Given the description of an element on the screen output the (x, y) to click on. 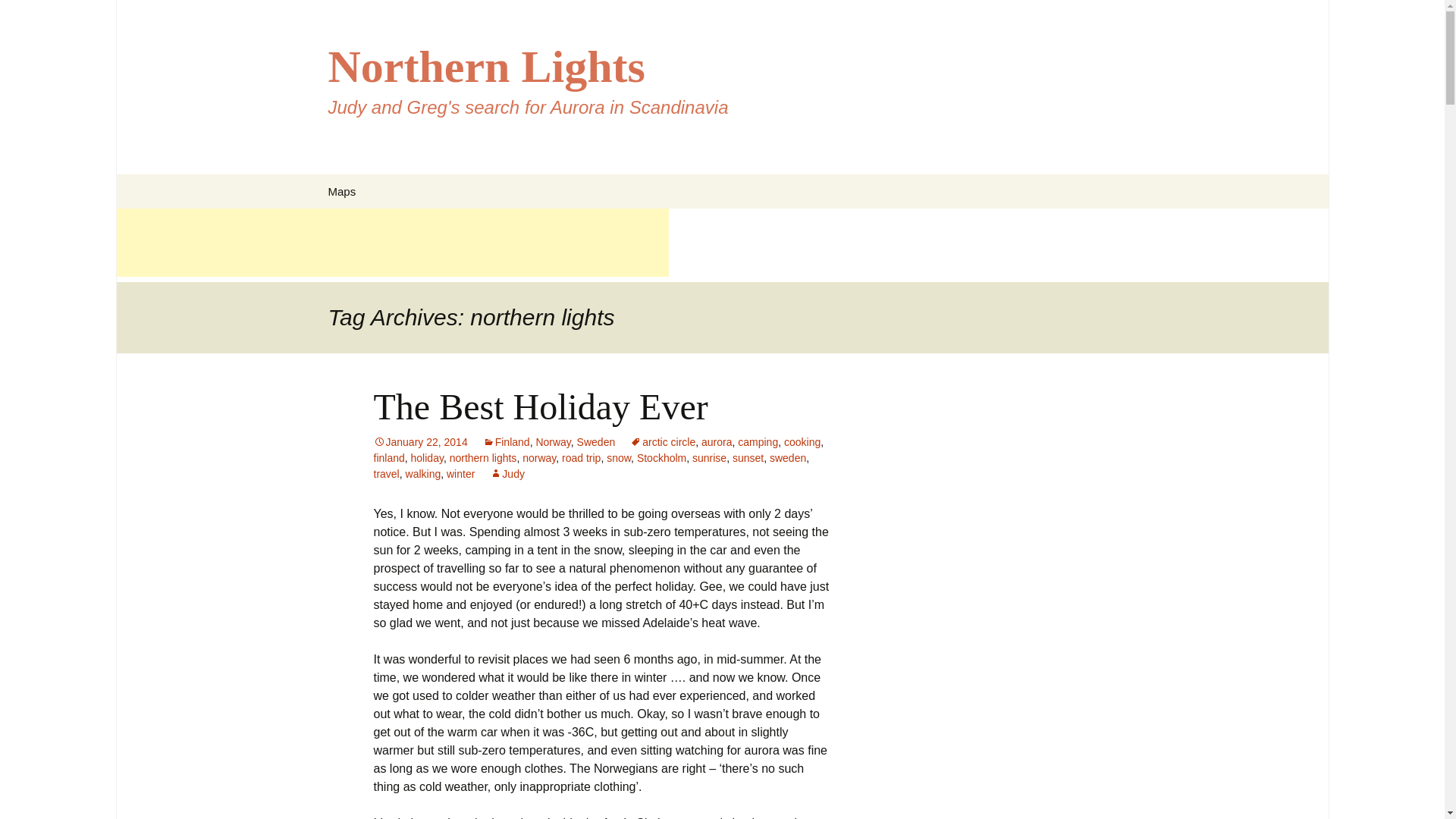
winter (460, 473)
Search (18, 15)
road trip (580, 458)
Stockholm (661, 458)
holiday (427, 458)
January 22, 2014 (419, 441)
sunrise (709, 458)
View all posts by Judy (506, 473)
finland (388, 458)
arctic circle (662, 441)
norway (539, 458)
travel (385, 473)
